Given the description of an element on the screen output the (x, y) to click on. 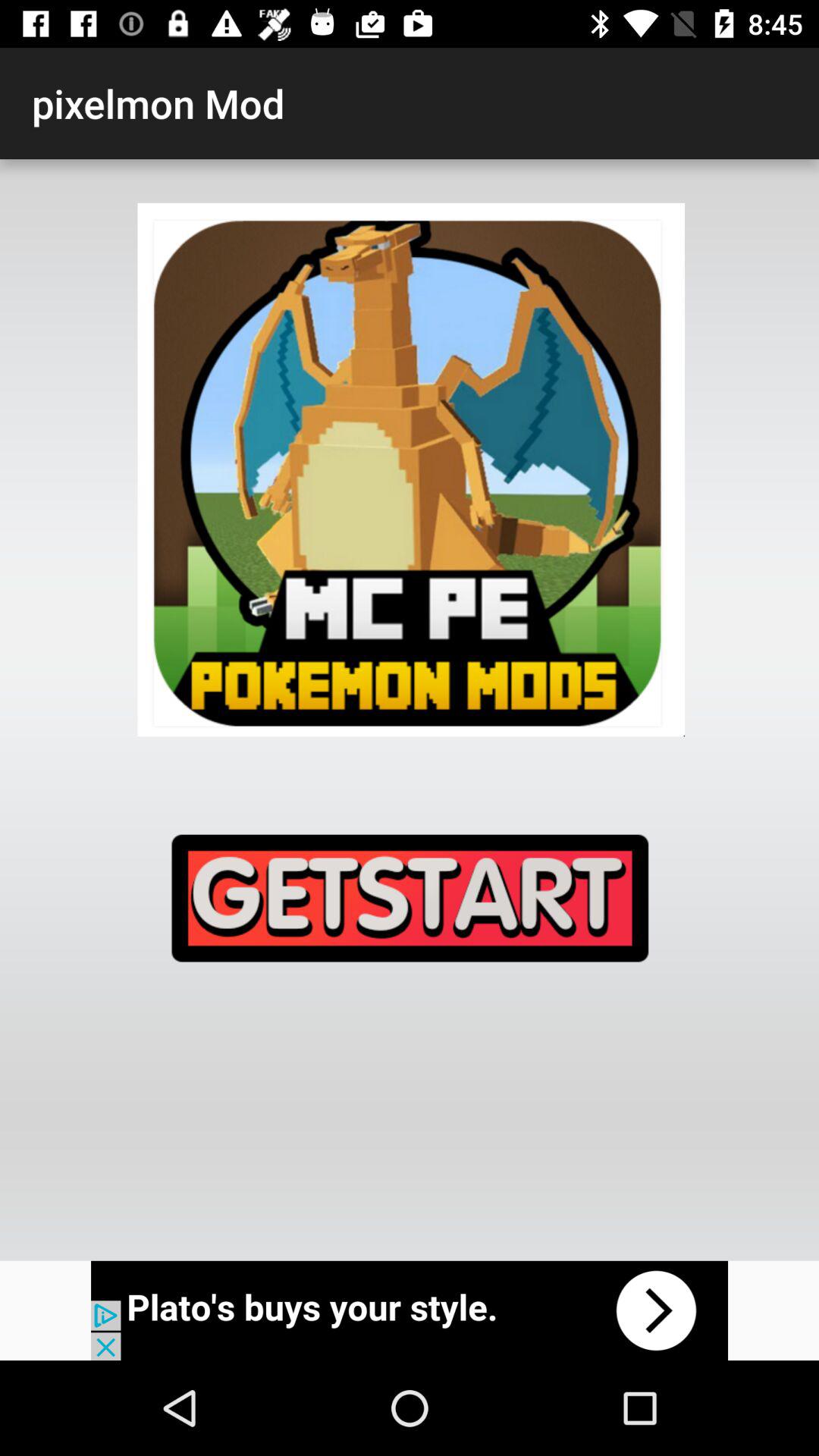
a link to an advertisement (409, 1310)
